Given the description of an element on the screen output the (x, y) to click on. 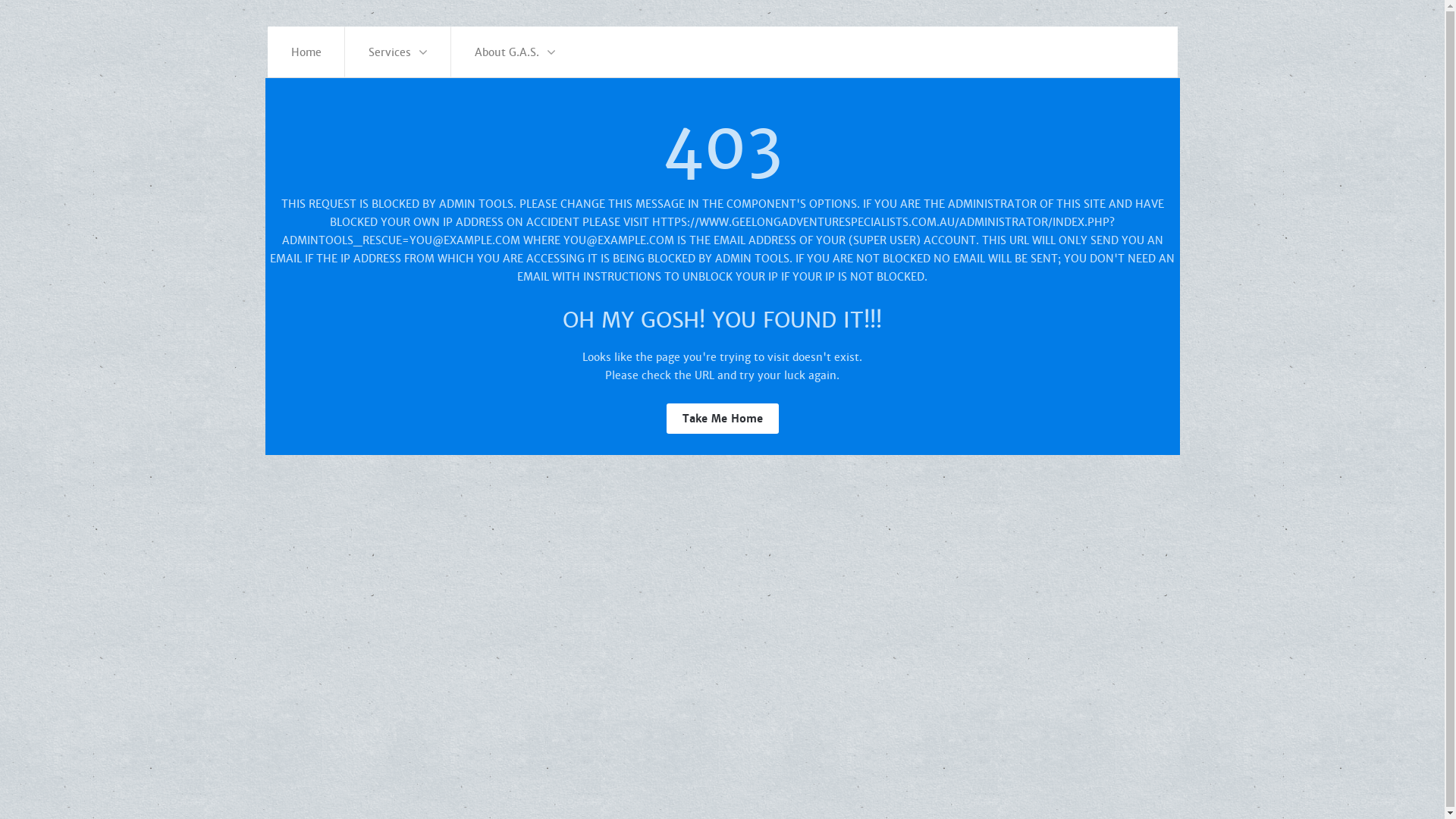
About G.A.S. Element type: text (514, 51)
Take Me Home Element type: text (721, 418)
Services Element type: text (397, 51)
Home Element type: text (306, 51)
